Given the description of an element on the screen output the (x, y) to click on. 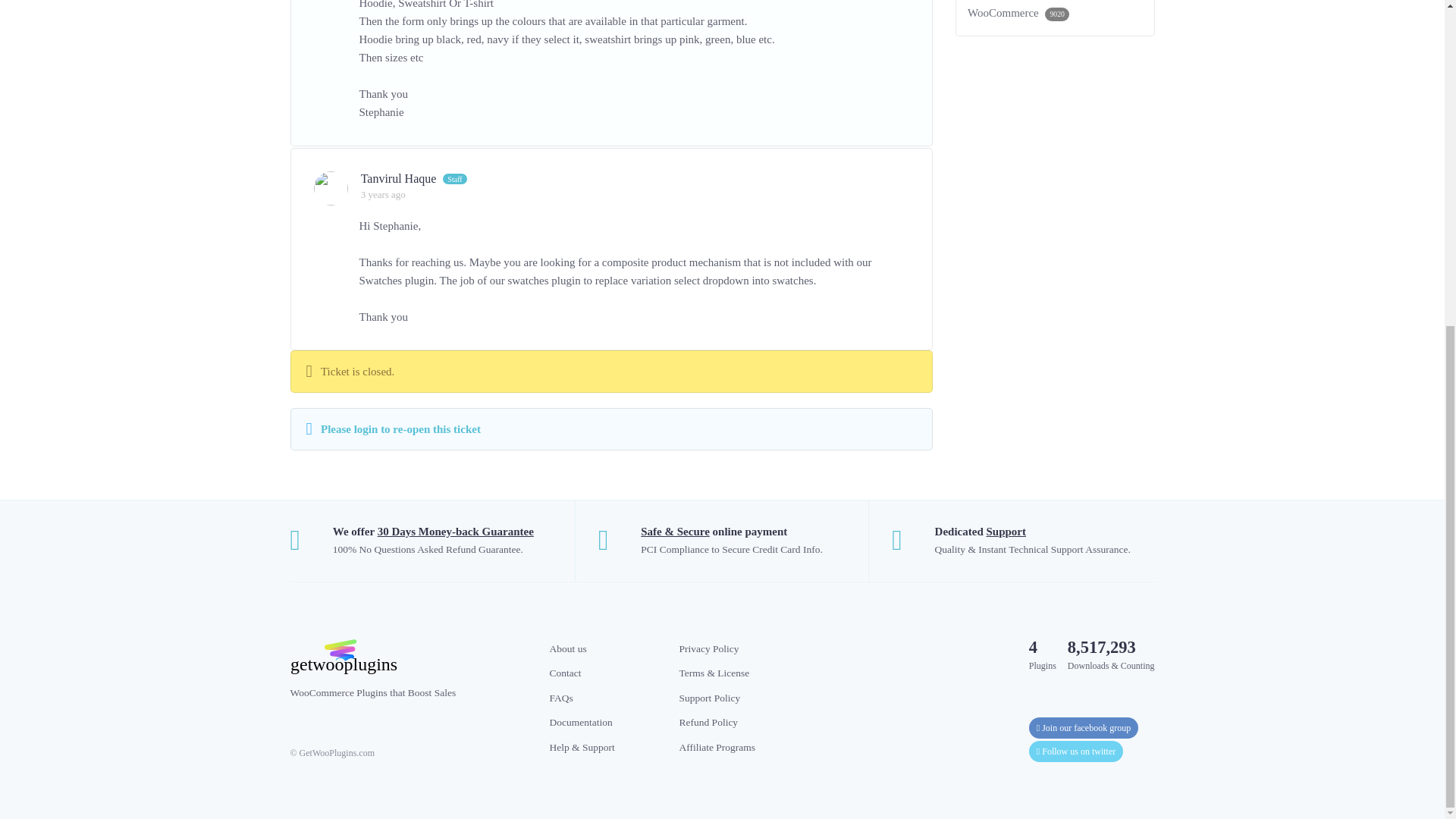
Please login to re-open this ticket (400, 429)
Support (1005, 531)
Join our facebook group (1083, 727)
Refund Policy (708, 722)
Support Policy (710, 697)
About us (567, 647)
Variation Swatches For WooCommerce 9020 (1055, 12)
GetWooPlugins (407, 656)
FAQs (560, 697)
30 Days Money-back Guarantee (455, 531)
